Given the description of an element on the screen output the (x, y) to click on. 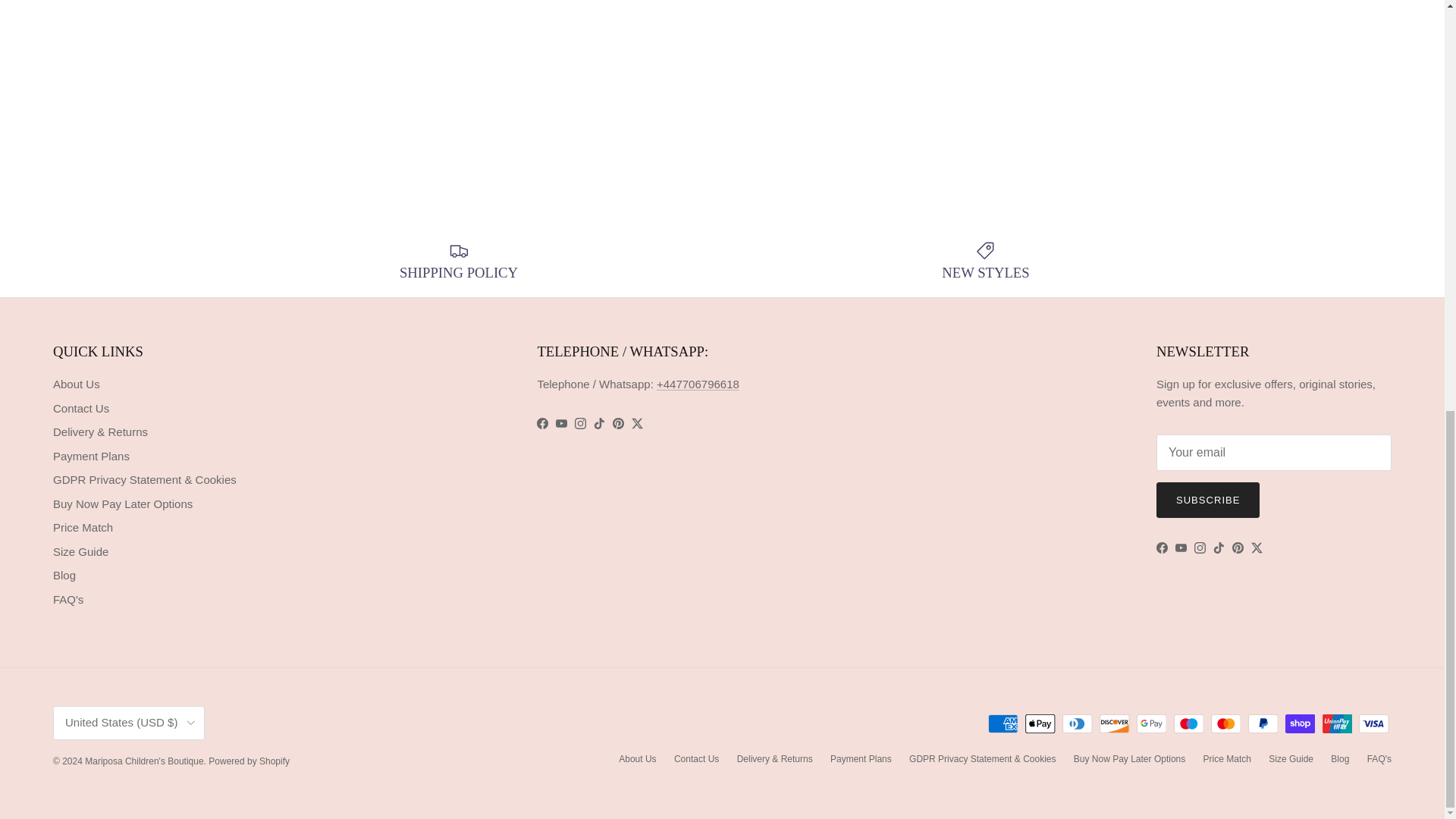
Mariposa Children's Boutique on Pinterest (618, 423)
Mariposa Children's Boutique on Facebook (542, 423)
Google Pay (1151, 723)
Discover (1114, 723)
Mariposa Children's Boutique on YouTube (561, 423)
Mariposa Children's Boutique on Twitter (637, 423)
Mariposa Children's Boutique on Facebook (1161, 547)
Mariposa Children's Boutique on TikTok (1218, 547)
Diners Club (1077, 723)
Mariposa Children's Boutique on Pinterest (1237, 547)
Maestro (1188, 723)
Apple Pay (1040, 723)
Mariposa Children's Boutique on YouTube (1180, 547)
Mariposa Children's Boutique on Instagram (580, 423)
Mariposa Children's Boutique on Instagram (1199, 547)
